Given the description of an element on the screen output the (x, y) to click on. 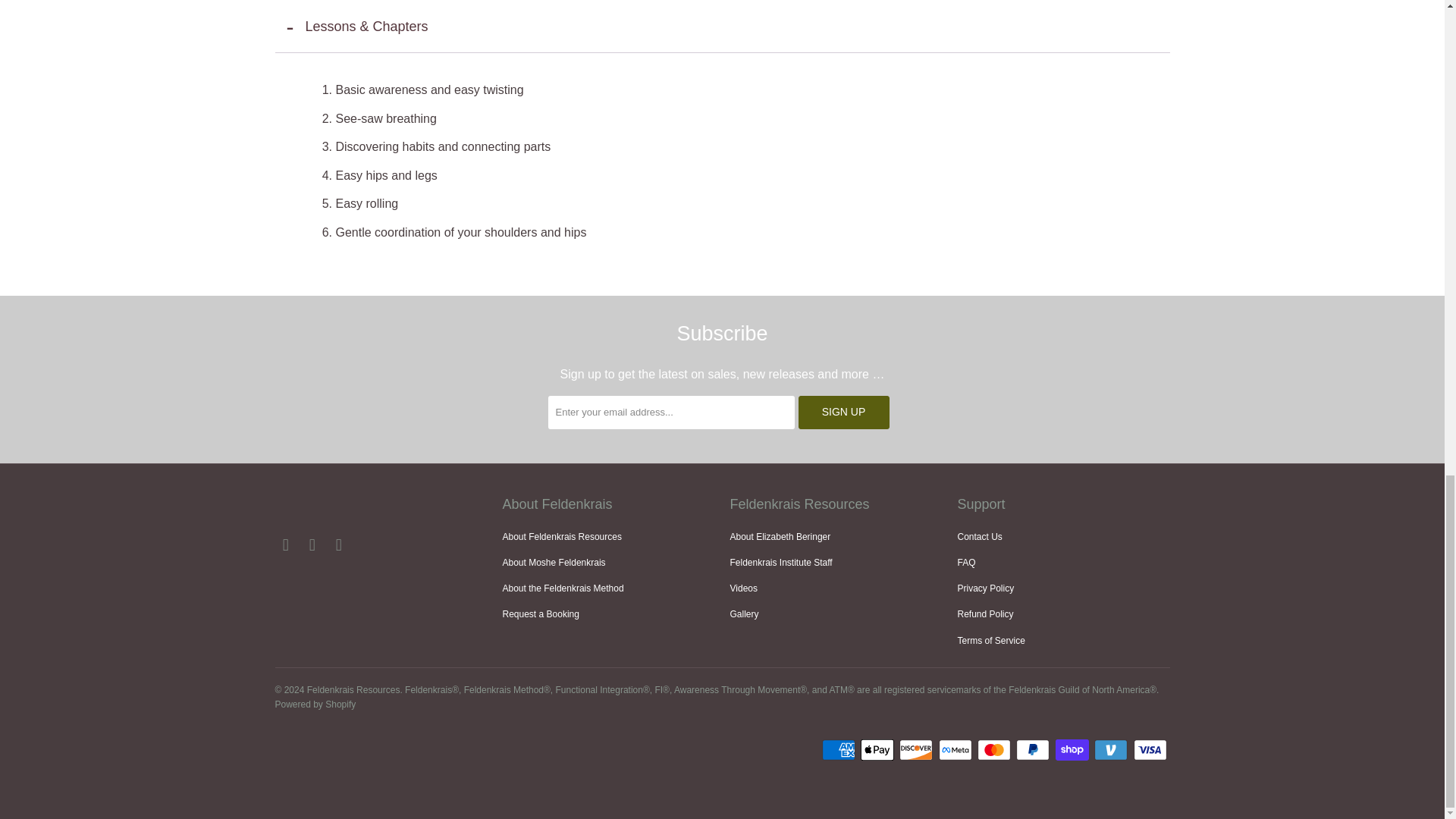
Mastercard (994, 749)
Visa (1150, 749)
Sign Up (842, 412)
Feldenkrais Resources on Twitter (286, 545)
Feldenkrais Resources on Vimeo (339, 545)
American Express (840, 749)
Apple Pay (878, 749)
Shop Pay (1073, 749)
Feldenkrais Resources on Facebook (312, 545)
PayPal (1034, 749)
Venmo (1112, 749)
Meta Pay (957, 749)
Discover (917, 749)
